Given the description of an element on the screen output the (x, y) to click on. 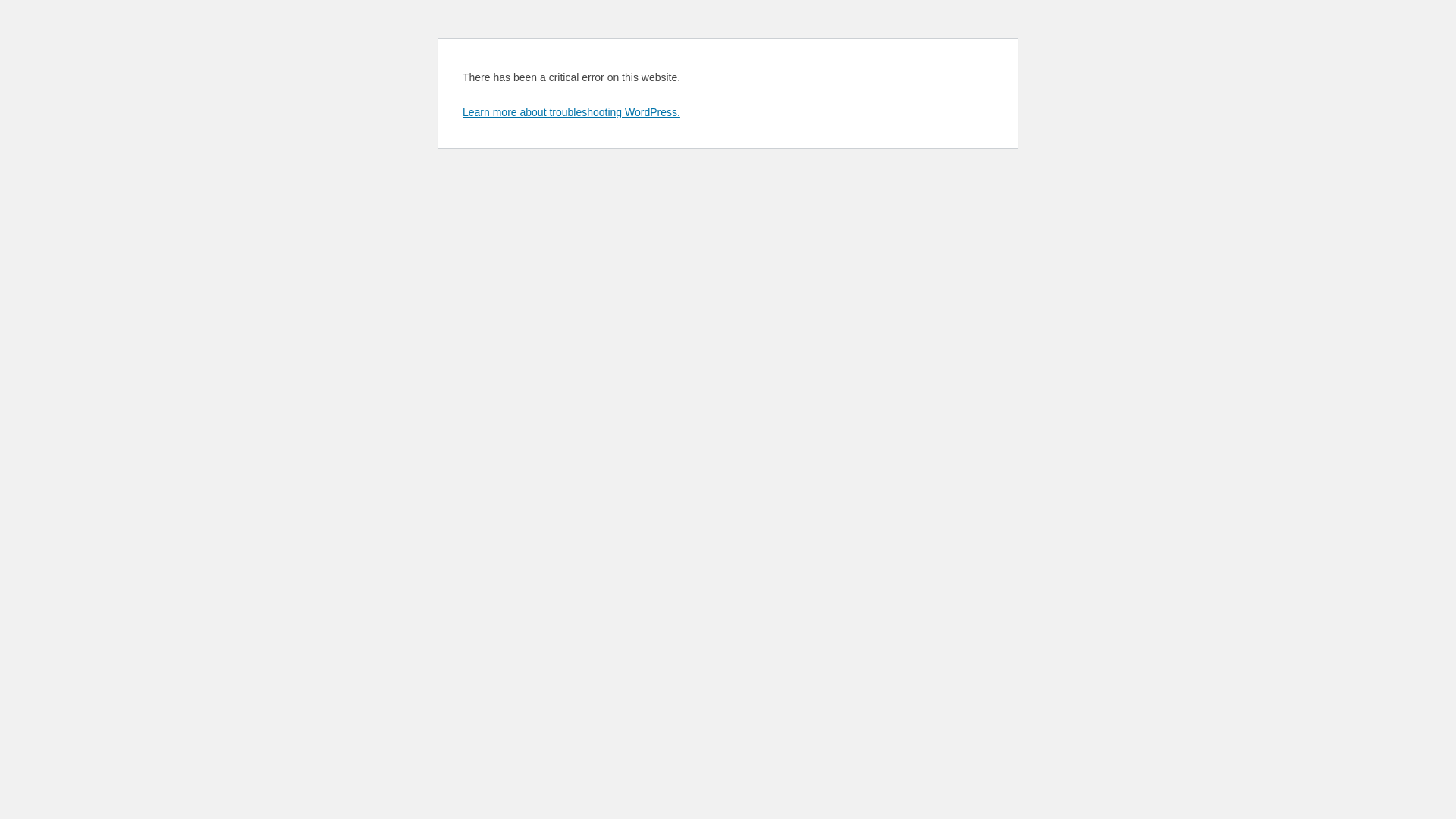
Learn more about troubleshooting WordPress. Element type: text (571, 112)
